Given the description of an element on the screen output the (x, y) to click on. 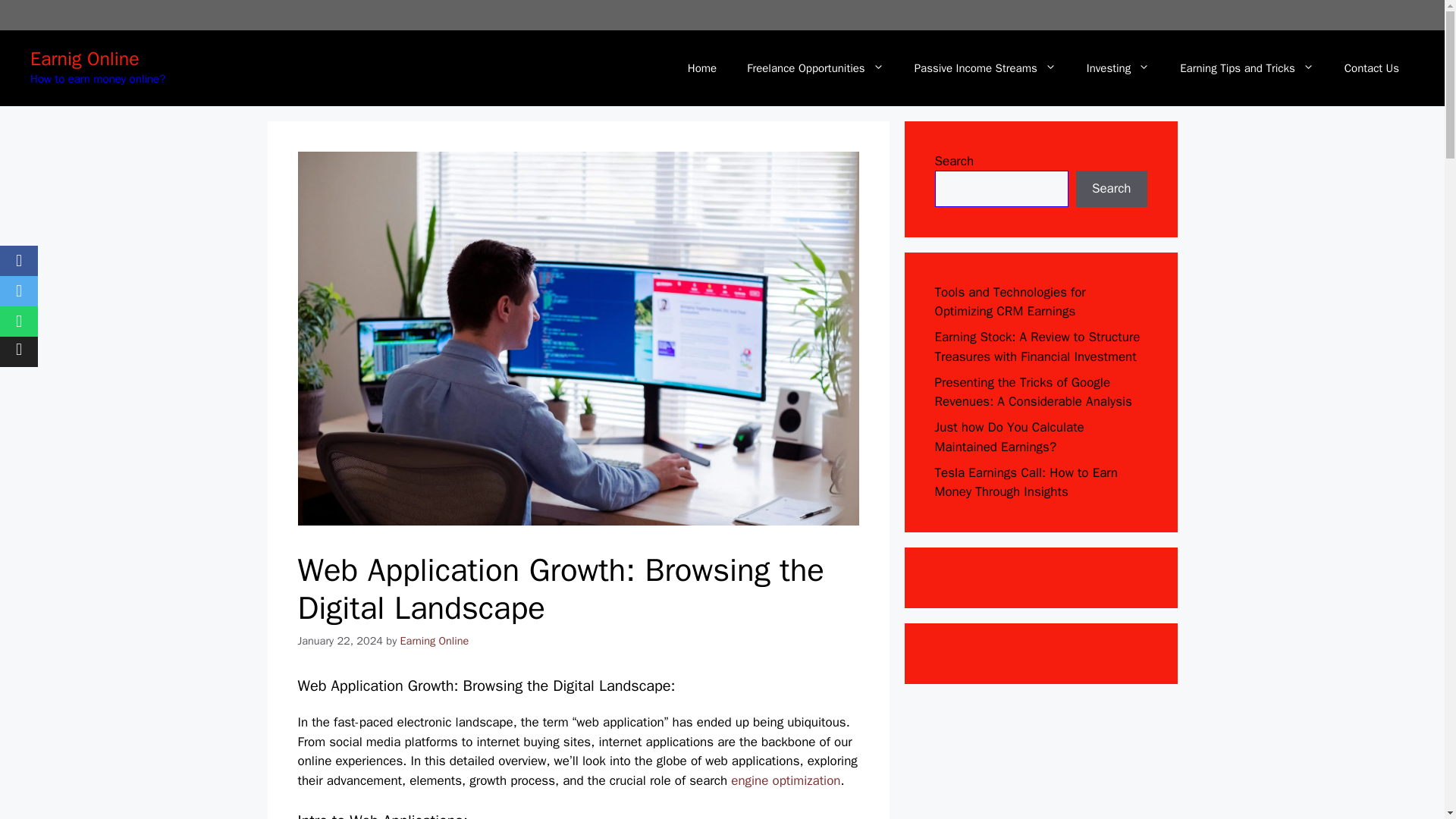
Passive Income Streams (985, 67)
Home (702, 67)
engine optimization (785, 780)
Freelance Opportunities (815, 67)
Contact Us (1371, 67)
Earnig Online (84, 58)
View all posts by Earning Online (434, 640)
Investing (1117, 67)
Earning Tips and Tricks (1246, 67)
Earning Online (434, 640)
